Given the description of an element on the screen output the (x, y) to click on. 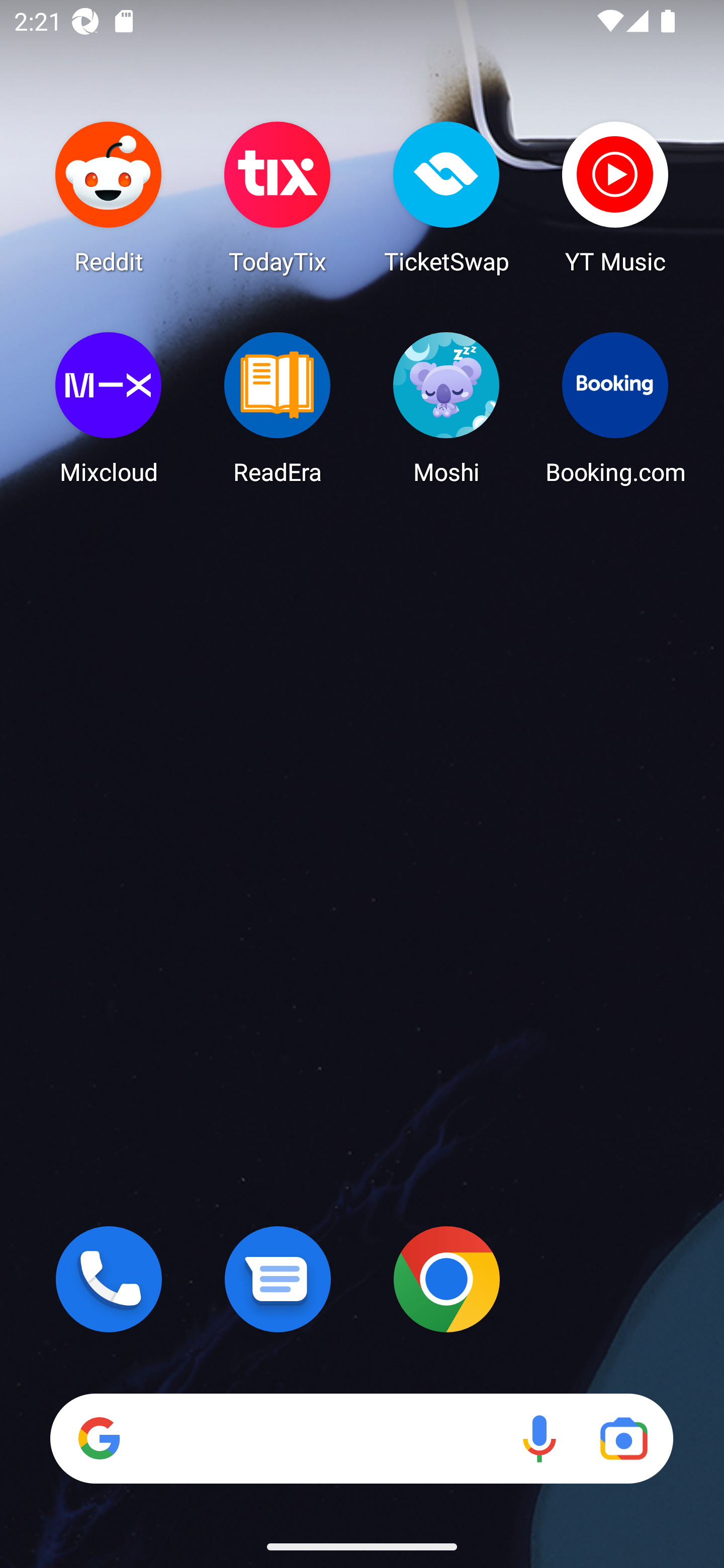
Reddit (108, 196)
TodayTix (277, 196)
TicketSwap (445, 196)
YT Music (615, 196)
Mixcloud (108, 407)
ReadEra (277, 407)
Moshi (445, 407)
Booking.com (615, 407)
Phone (108, 1279)
Messages (277, 1279)
Chrome (446, 1279)
Search Voice search Google Lens (361, 1438)
Voice search (539, 1438)
Google Lens (623, 1438)
